Given the description of an element on the screen output the (x, y) to click on. 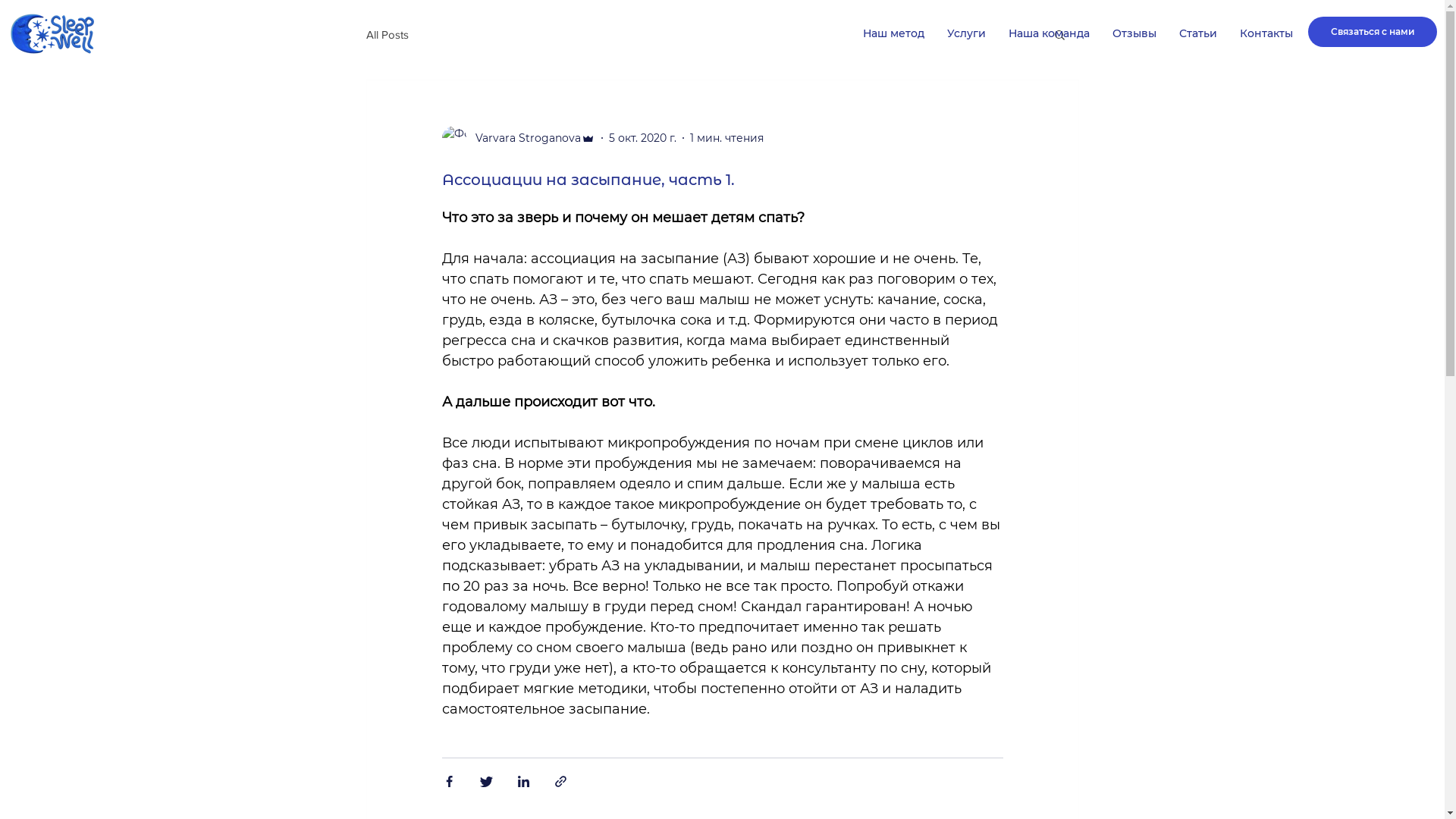
All Posts Element type: text (386, 33)
